Given the description of an element on the screen output the (x, y) to click on. 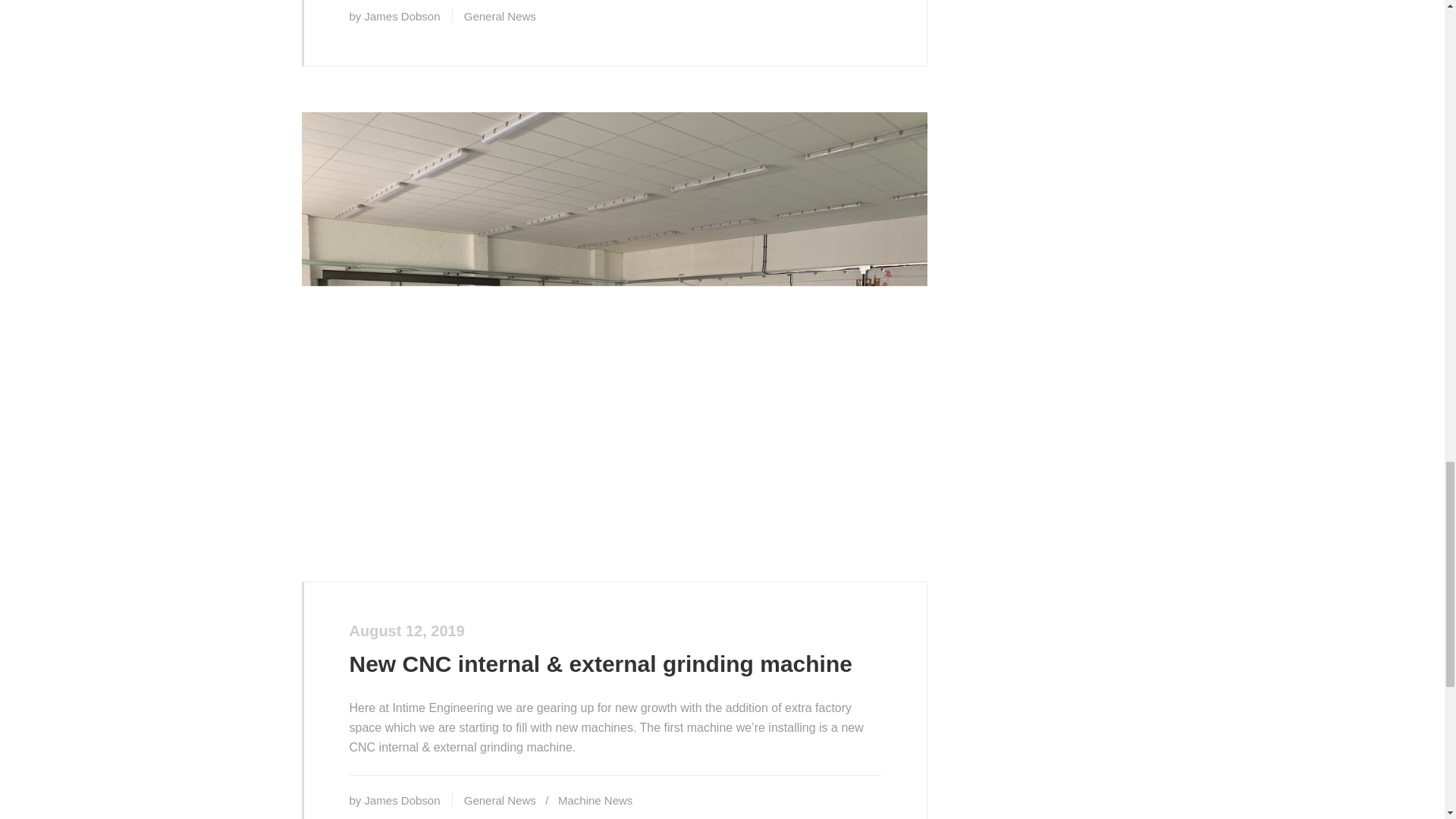
Machine News (594, 799)
General News (499, 799)
General News (499, 15)
